Given the description of an element on the screen output the (x, y) to click on. 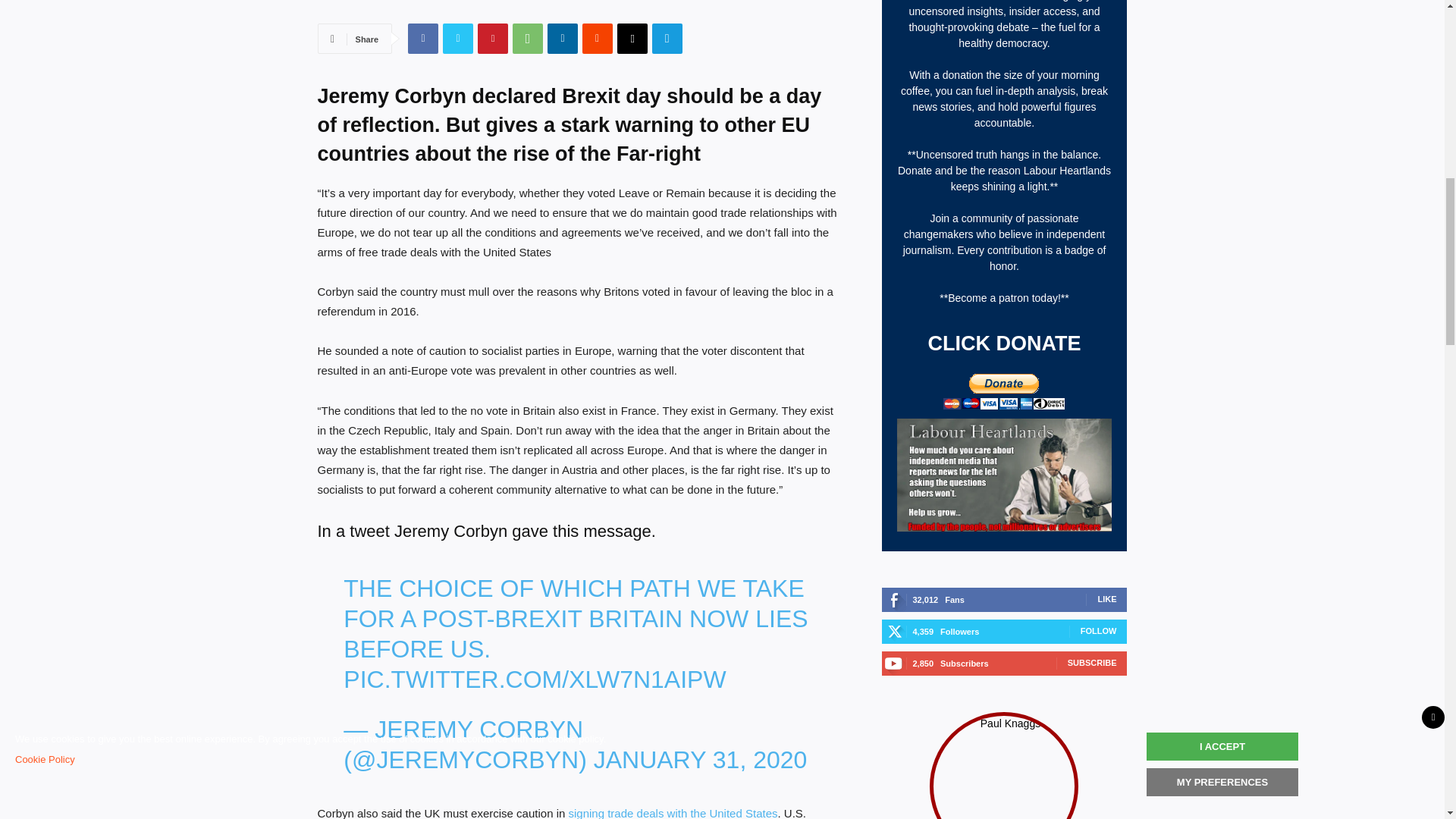
topFacebookLike (430, 6)
